Given the description of an element on the screen output the (x, y) to click on. 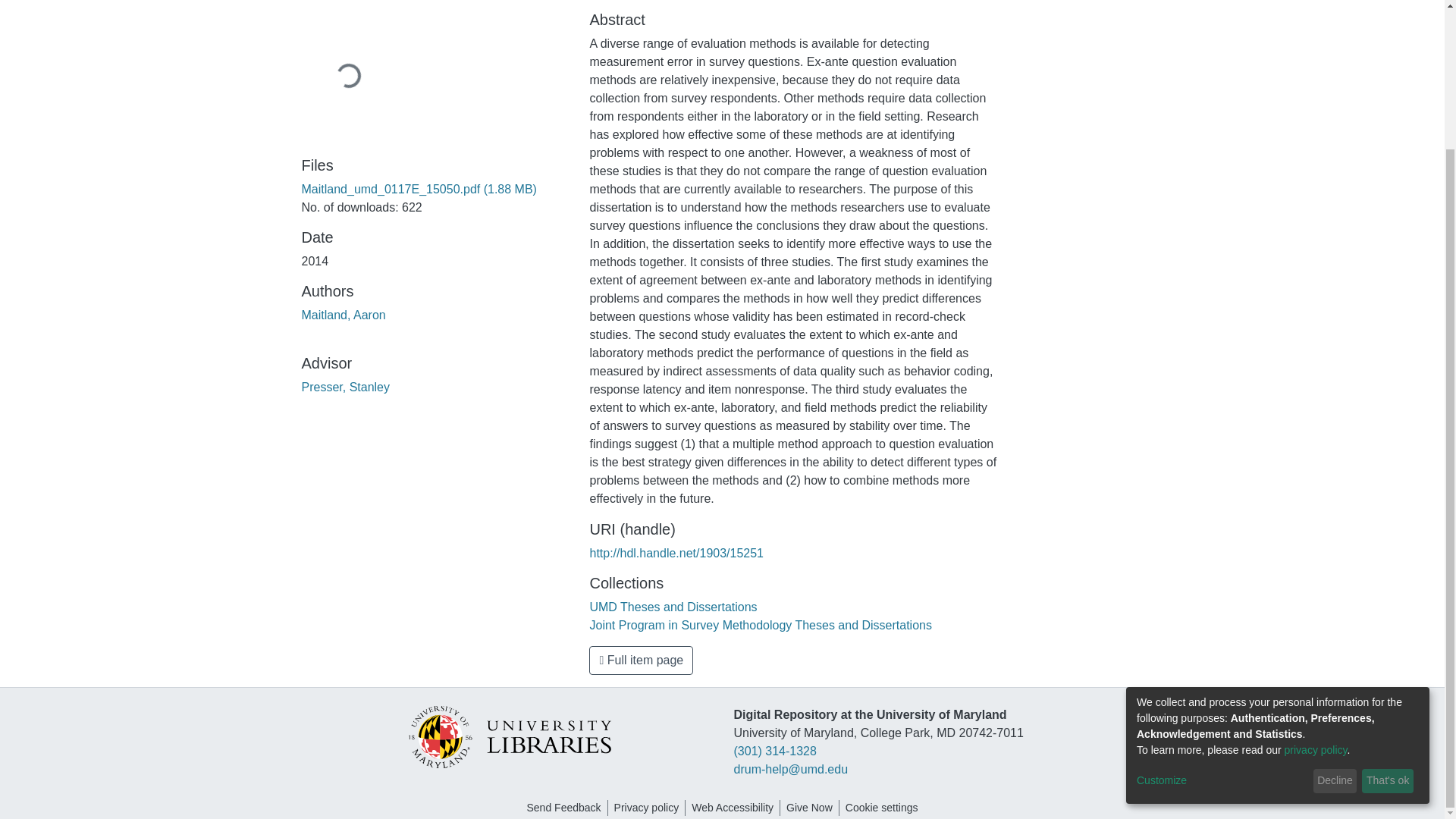
Cookie settings (882, 807)
Give Now (809, 807)
Presser, Stanley (345, 386)
Send Feedback (563, 807)
Maitland, Aaron (343, 314)
privacy policy (1316, 577)
Customize (1222, 608)
Web Accessibility (731, 807)
Joint Program in Survey Methodology Theses and Dissertations (760, 625)
Full item page (641, 660)
Privacy policy (646, 807)
Libraries Home Page (508, 735)
UMD Theses and Dissertations (673, 606)
